Given the description of an element on the screen output the (x, y) to click on. 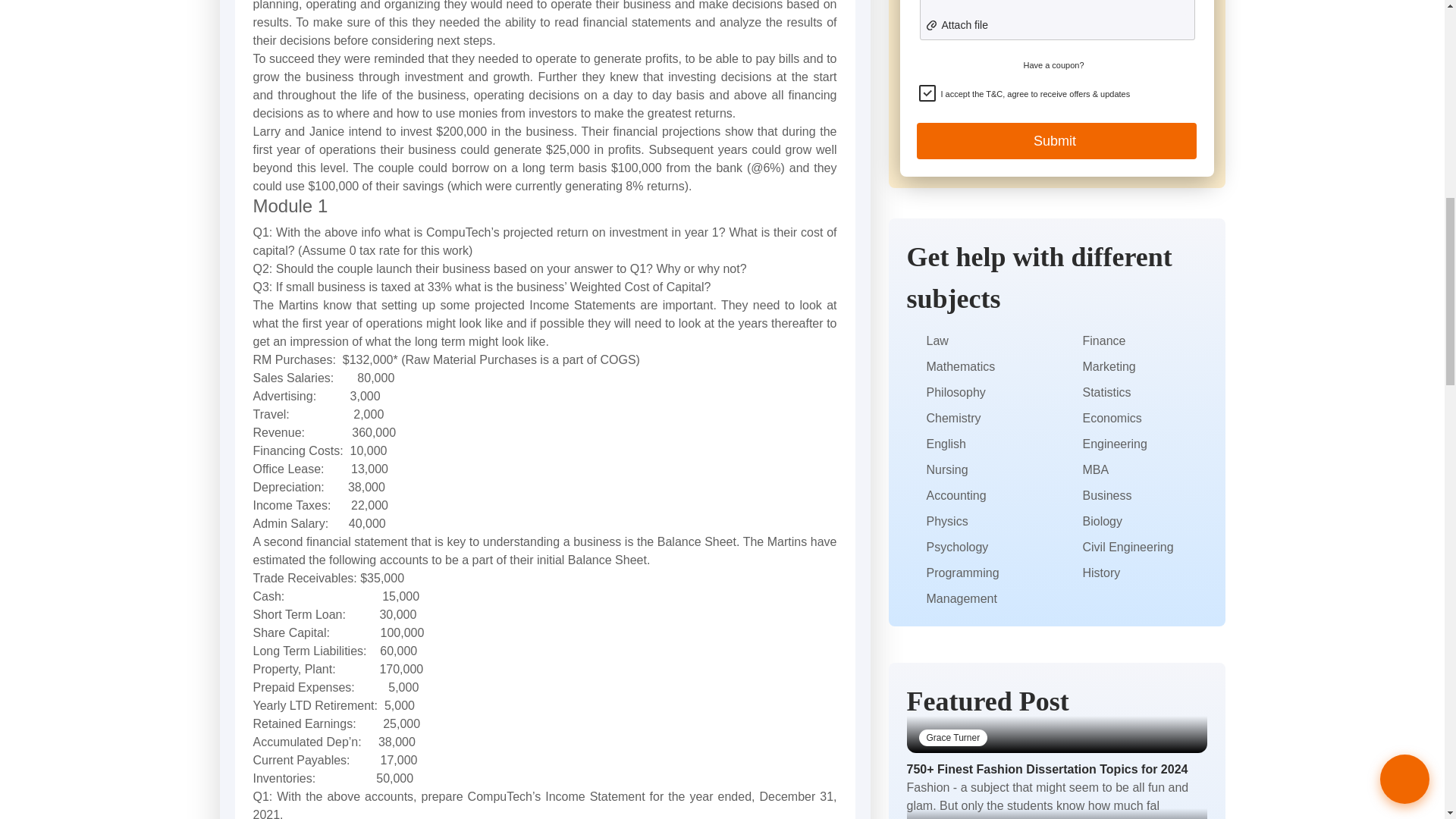
diffrent-subjects (912, 470)
diffrent-subjects (912, 393)
diffrent-subjects (912, 341)
diffrent-subjects (912, 367)
diffrent-subjects (912, 419)
diffrent-subjects (912, 444)
